Given the description of an element on the screen output the (x, y) to click on. 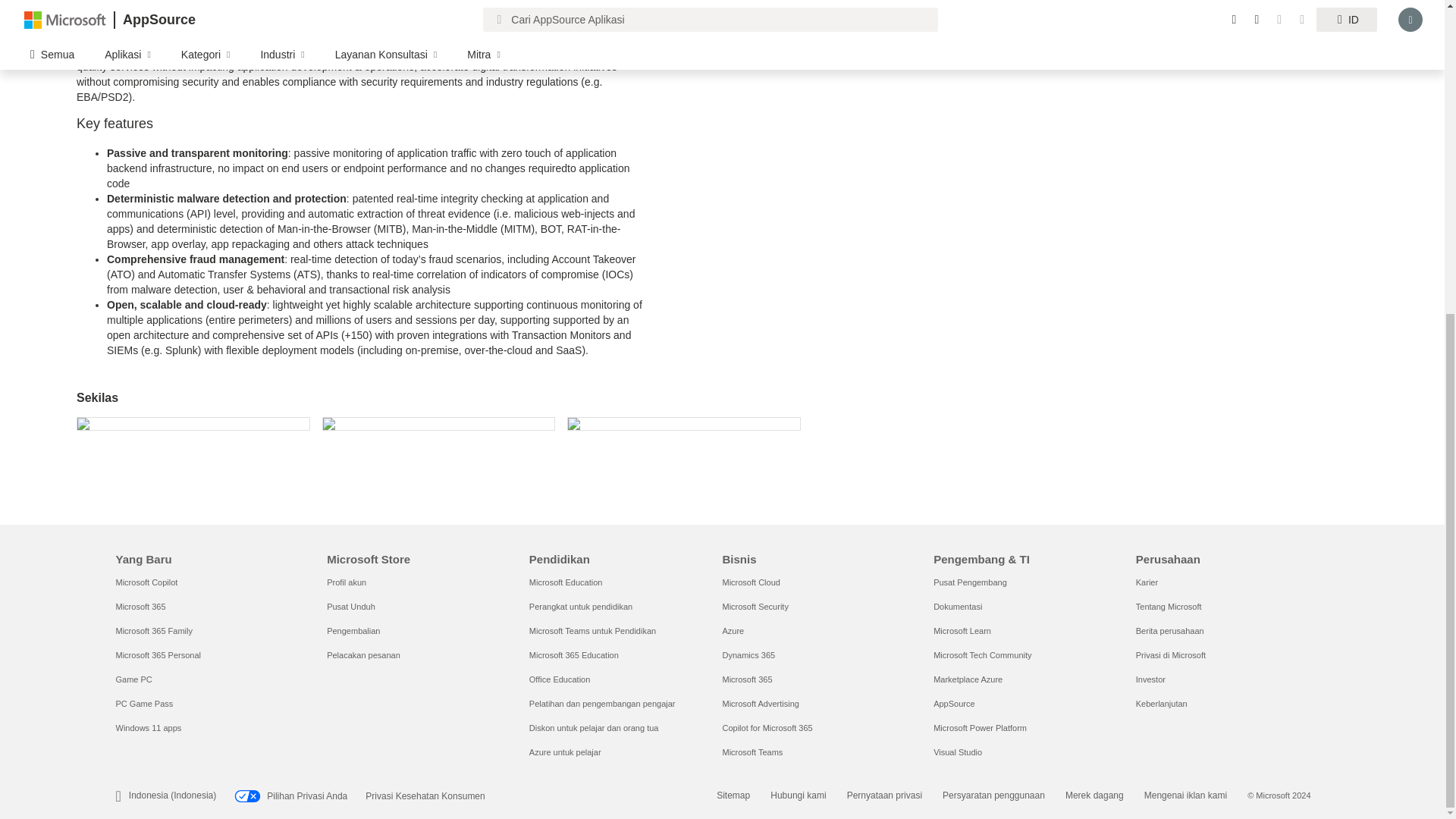
Microsoft 365 Education (573, 655)
PC Game Pass (144, 703)
Office Education (560, 678)
Windows 11 apps (147, 727)
Microsoft Teams untuk Pendidikan (592, 630)
Pelatihan dan pengembangan pengajar (602, 703)
Game PC (133, 678)
Microsoft 365 (140, 605)
Pusat Unduh (350, 605)
Microsoft 365 Family (153, 630)
Microsoft Education (565, 582)
Microsoft Copilot (146, 582)
Pengembalian (353, 630)
Microsoft 365 Personal (157, 655)
Profil akun (346, 582)
